Given the description of an element on the screen output the (x, y) to click on. 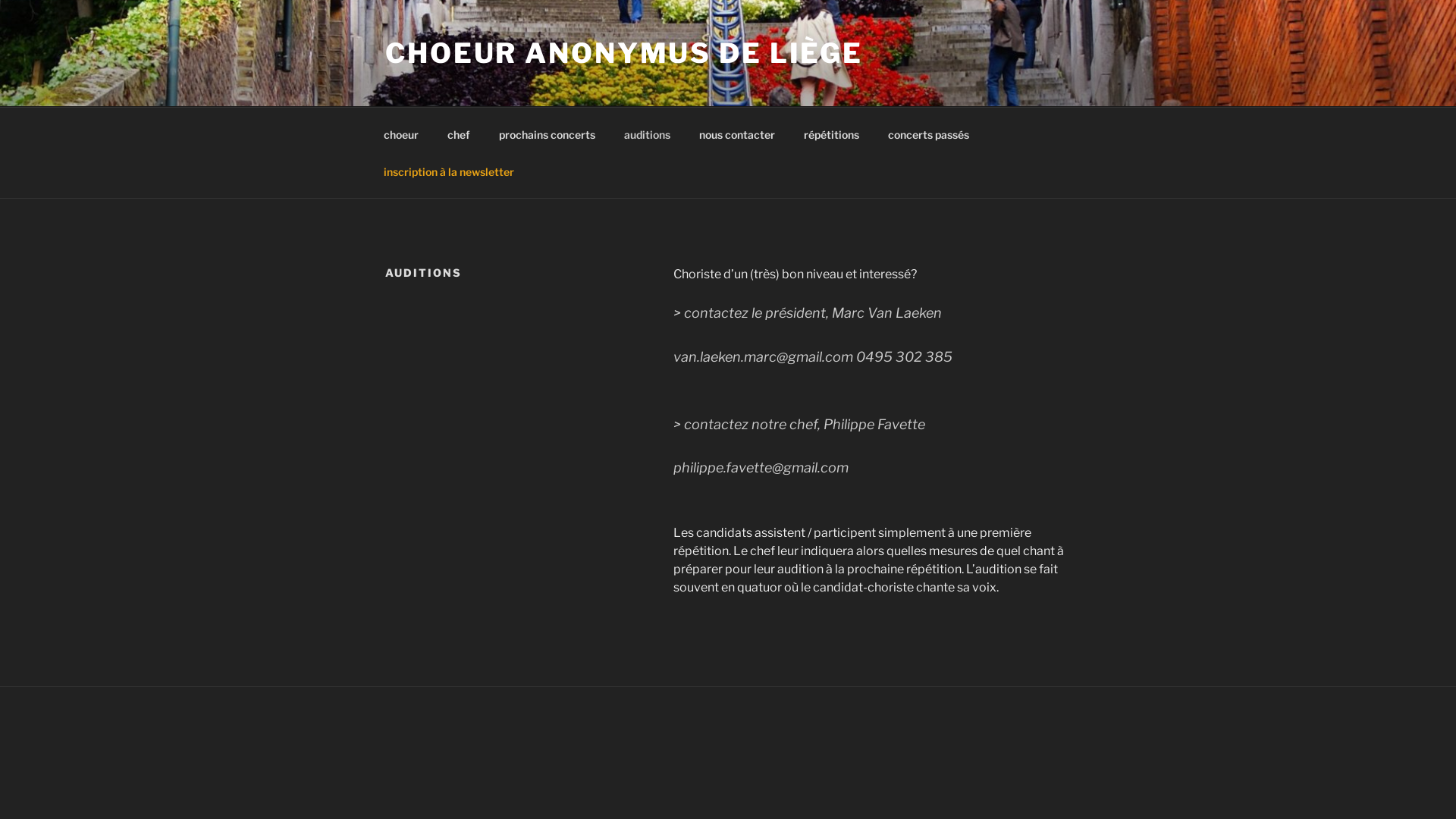
auditions Element type: text (646, 133)
choeur Element type: text (400, 133)
prochains concerts Element type: text (546, 133)
nous contacter Element type: text (736, 133)
chef Element type: text (458, 133)
